Given the description of an element on the screen output the (x, y) to click on. 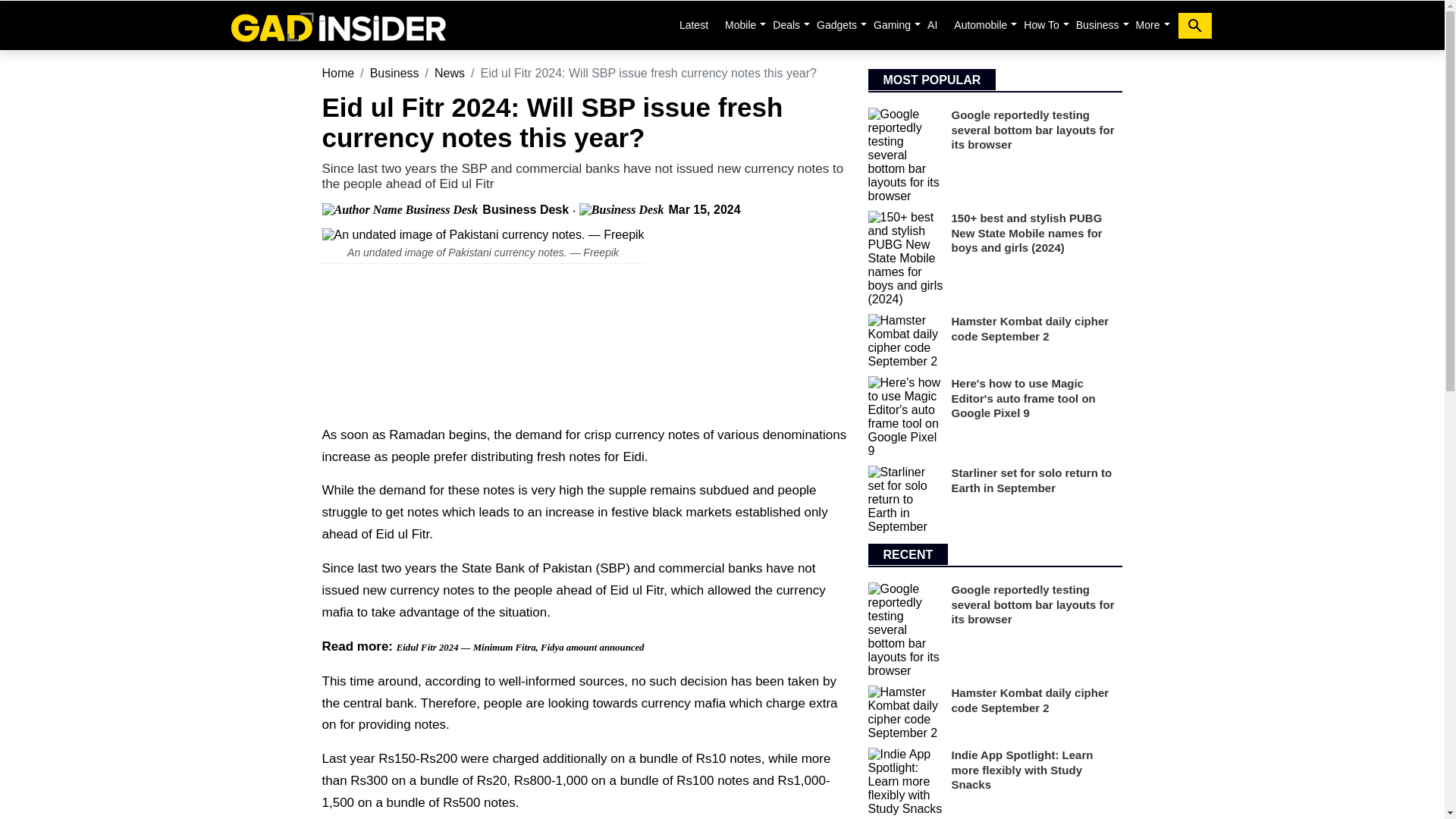
Mobile (740, 24)
Home (337, 24)
Deals (786, 24)
latest (693, 24)
How To (1040, 24)
Gadgets (836, 24)
Laptops (786, 24)
Automobile (980, 24)
Gadgets (836, 24)
Automobile (980, 24)
